Given the description of an element on the screen output the (x, y) to click on. 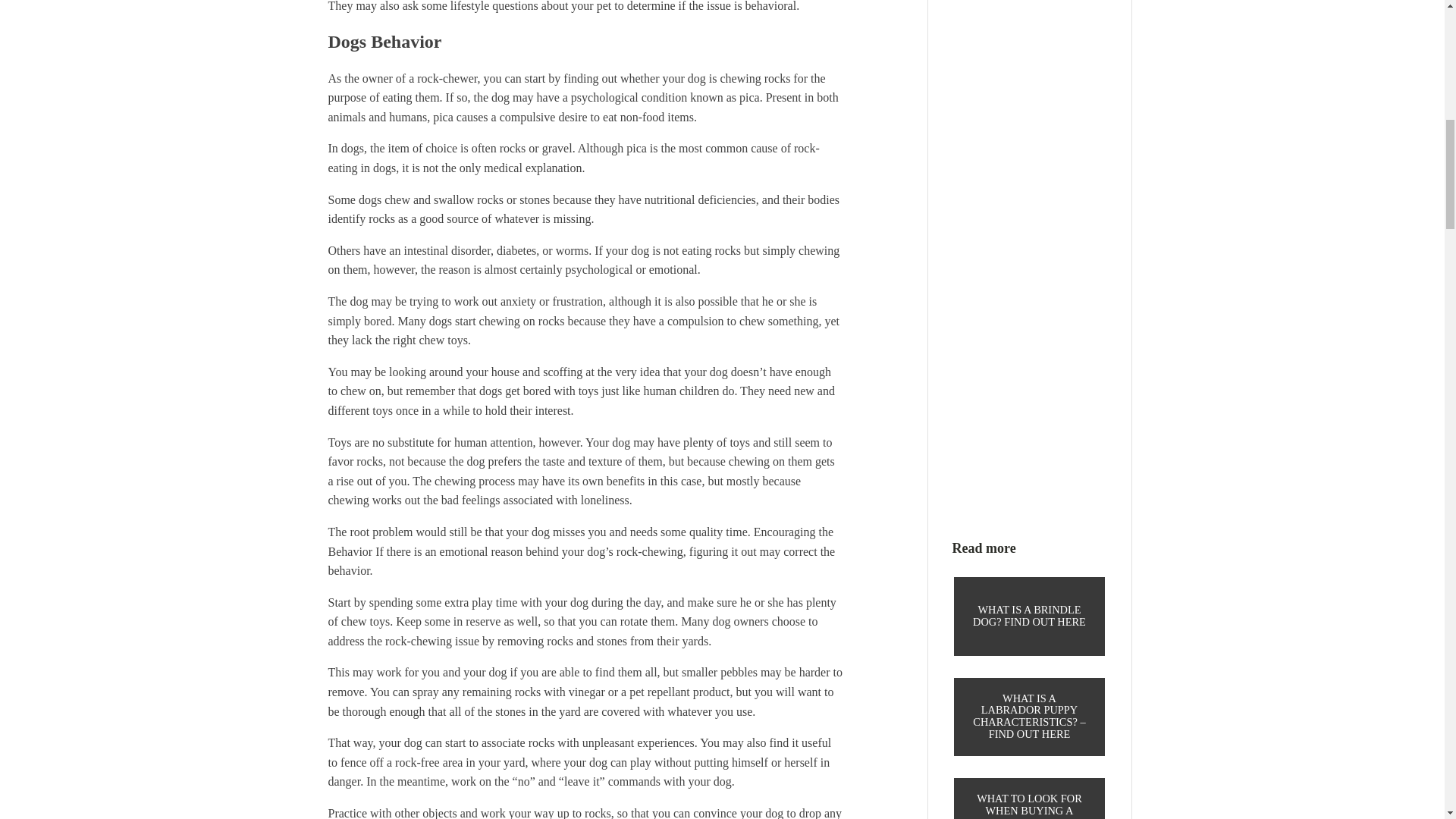
WHAT IS A BRINDLE DOG? FIND OUT HERE (1029, 616)
